Given the description of an element on the screen output the (x, y) to click on. 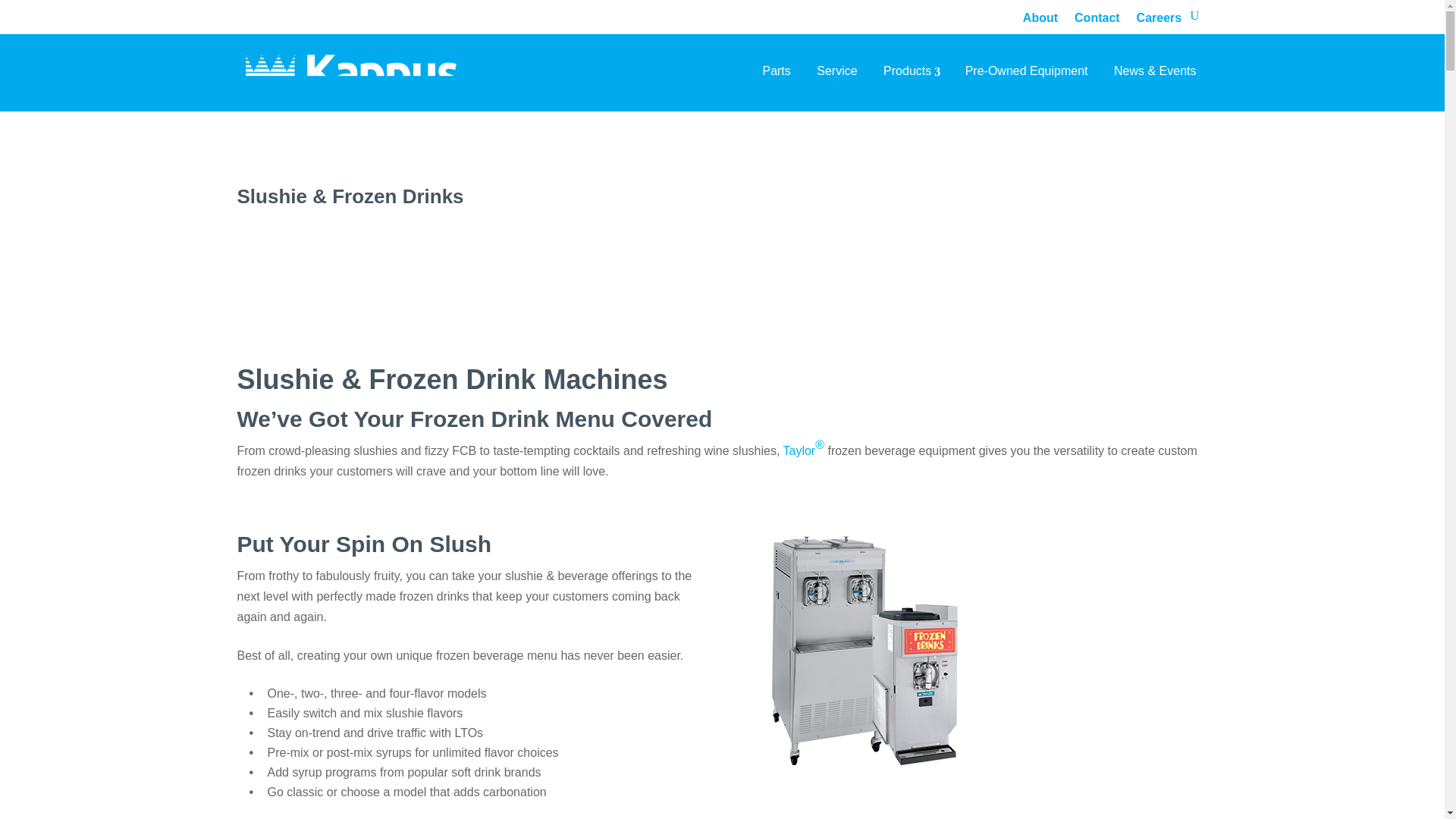
Pre-Owned Equipment (1026, 71)
Careers (1159, 17)
Contact (1096, 17)
ice cream machine (864, 649)
Products (911, 71)
About (1040, 17)
Kappus - front page (352, 76)
Parts (776, 71)
Service (836, 71)
